Given the description of an element on the screen output the (x, y) to click on. 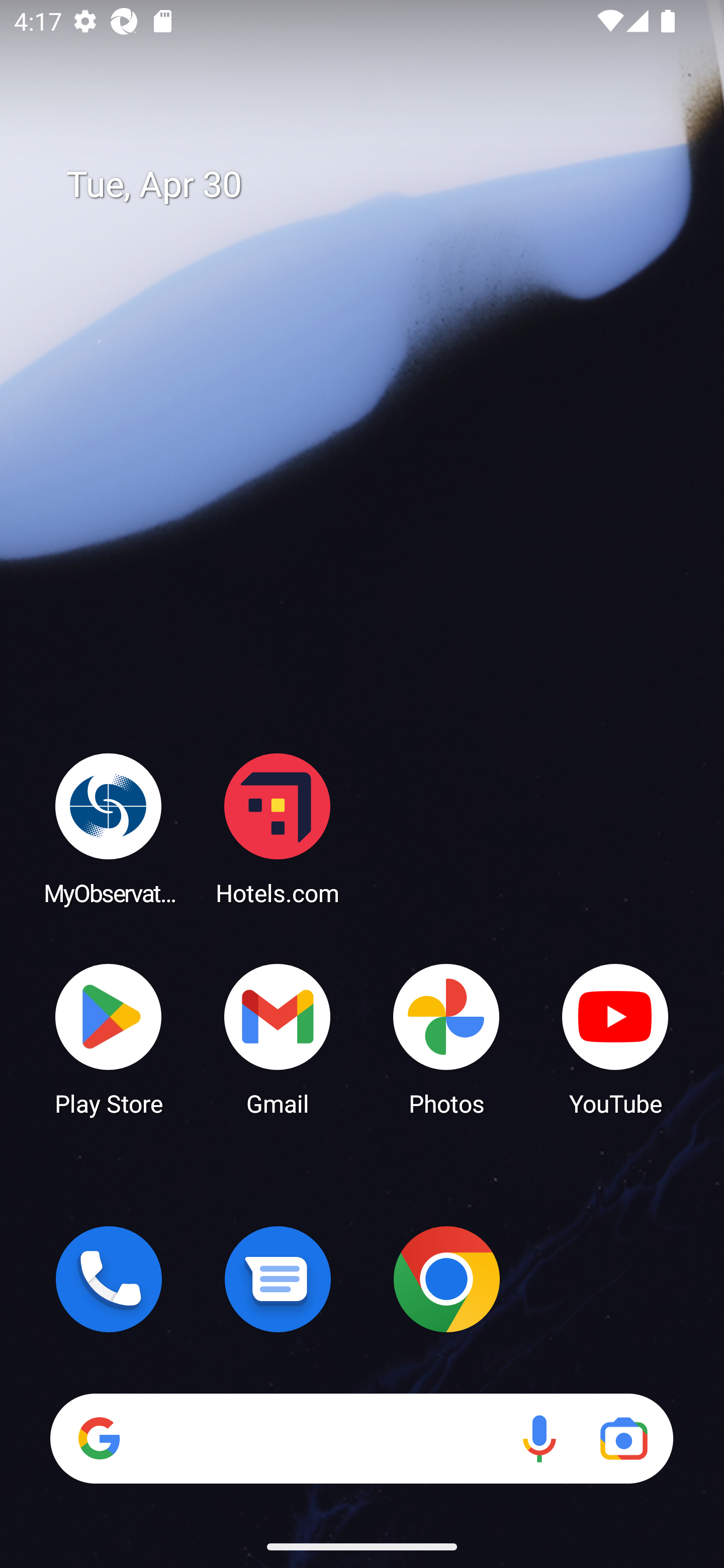
Tue, Apr 30 (375, 184)
MyObservatory (108, 828)
Hotels.com (277, 828)
Play Store (108, 1038)
Gmail (277, 1038)
Photos (445, 1038)
YouTube (615, 1038)
Phone (108, 1279)
Messages (277, 1279)
Chrome (446, 1279)
Voice search (539, 1438)
Google Lens (623, 1438)
